Given the description of an element on the screen output the (x, y) to click on. 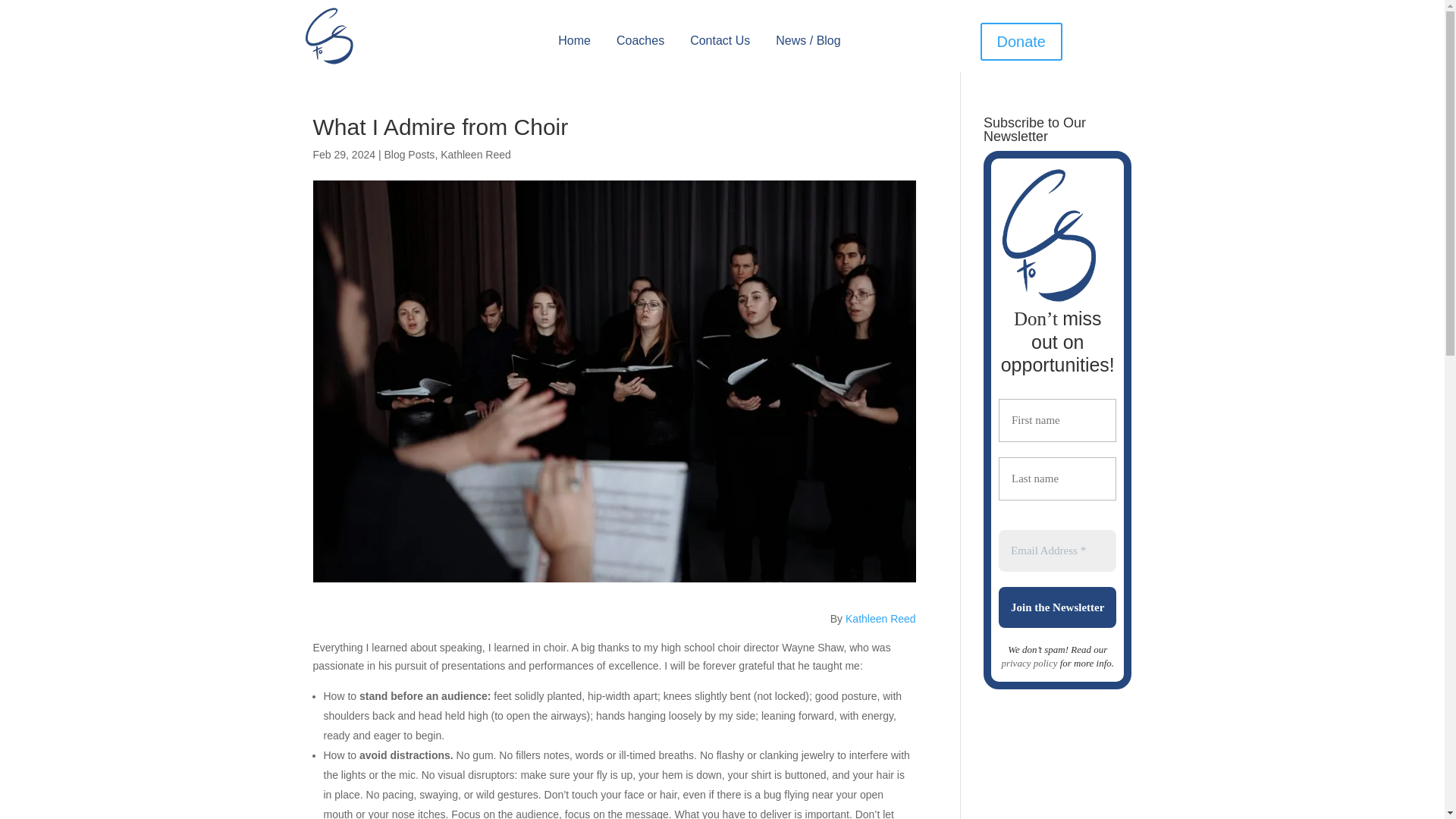
Email Address (1057, 550)
Kathleen Reed (476, 154)
Join the Newsletter (1057, 607)
Contact Us (719, 43)
privacy policy (1029, 663)
Coaches (639, 43)
First name (1057, 420)
Donate (1020, 41)
Blog Posts (408, 154)
Kathleen Reed (880, 618)
